Given the description of an element on the screen output the (x, y) to click on. 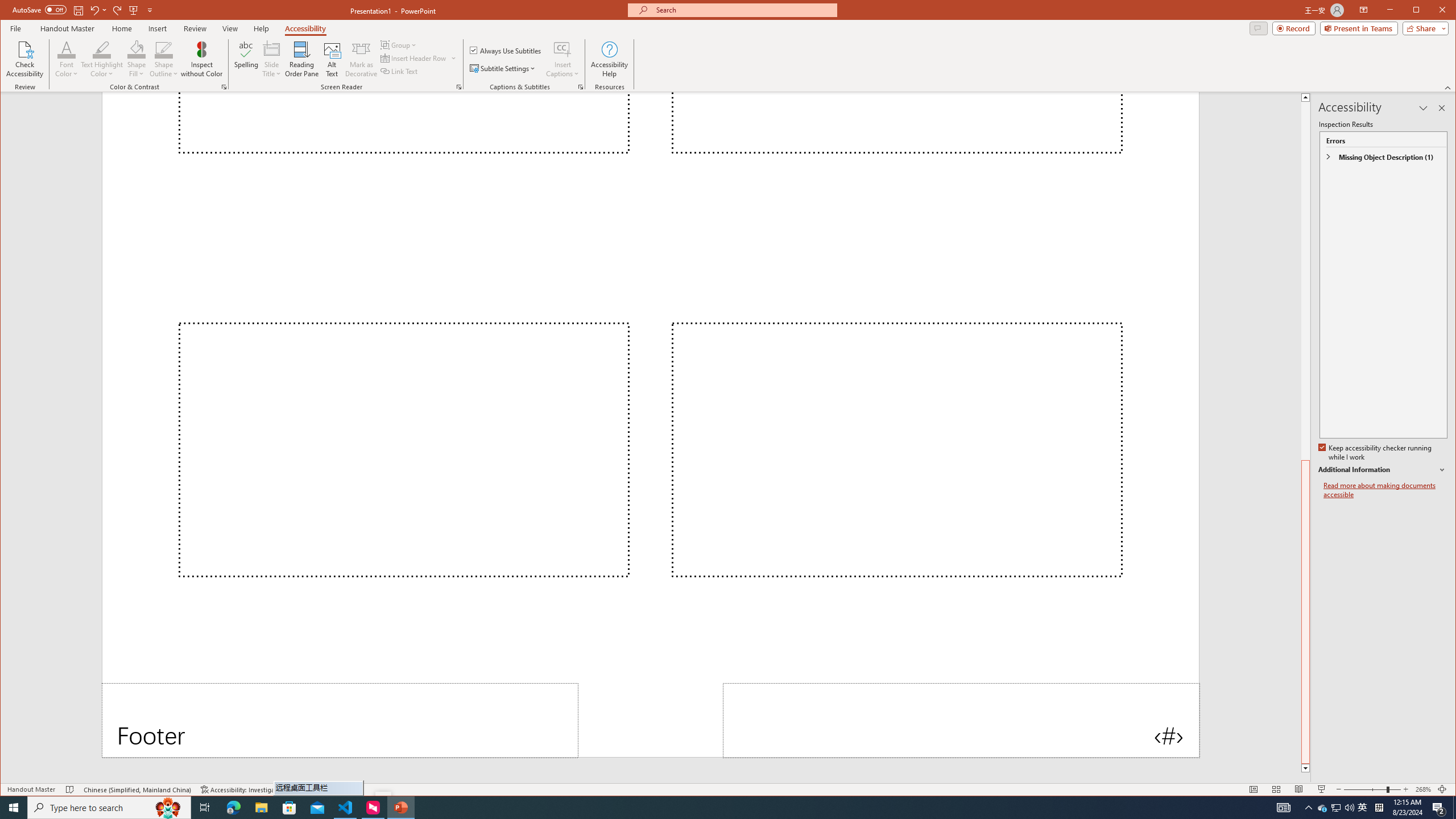
Line up (1305, 96)
View (230, 28)
Customize Quick Access Toolbar (150, 9)
Insert Captions (562, 59)
Screen Reader (458, 86)
Insert (156, 28)
Home (121, 28)
Close pane (1441, 107)
Zoom 268% (1422, 789)
Text Highlight Color (102, 59)
Page Number (960, 720)
Collapse the Ribbon (1448, 87)
Review (195, 28)
